Given the description of an element on the screen output the (x, y) to click on. 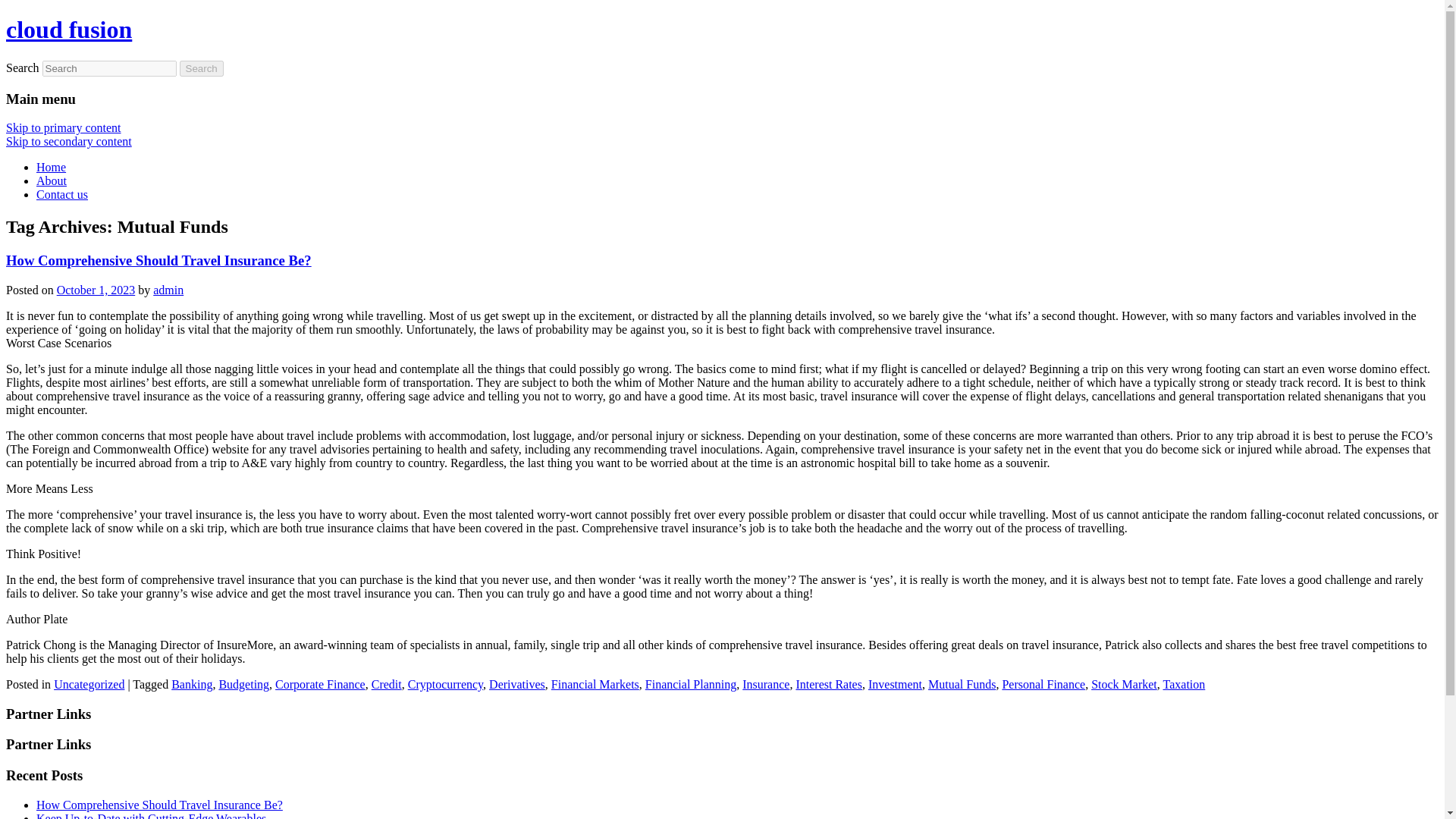
Taxation (1184, 684)
Home (50, 166)
Personal Finance (1042, 684)
Cryptocurrency (445, 684)
Derivatives (516, 684)
Keep Up-to-Date with Cutting-Edge Wearables (151, 815)
How Comprehensive Should Travel Insurance Be? (159, 804)
Uncategorized (88, 684)
Financial Planning (690, 684)
October 1, 2023 (95, 289)
Corporate Finance (320, 684)
Financial Markets (595, 684)
cloud fusion (68, 29)
Investment (894, 684)
Insurance (765, 684)
